Given the description of an element on the screen output the (x, y) to click on. 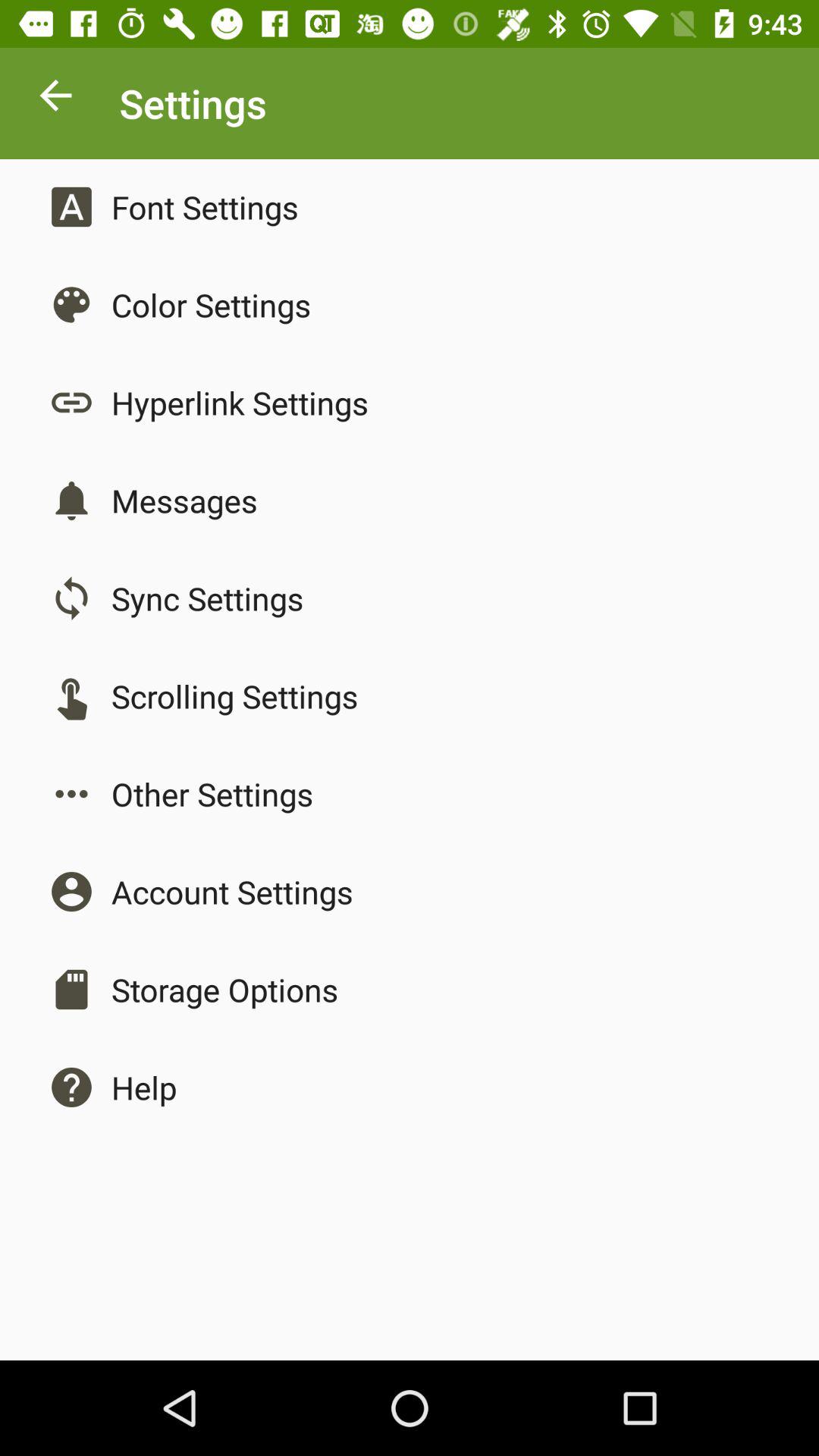
turn on the app below the hyperlink settings app (184, 500)
